Given the description of an element on the screen output the (x, y) to click on. 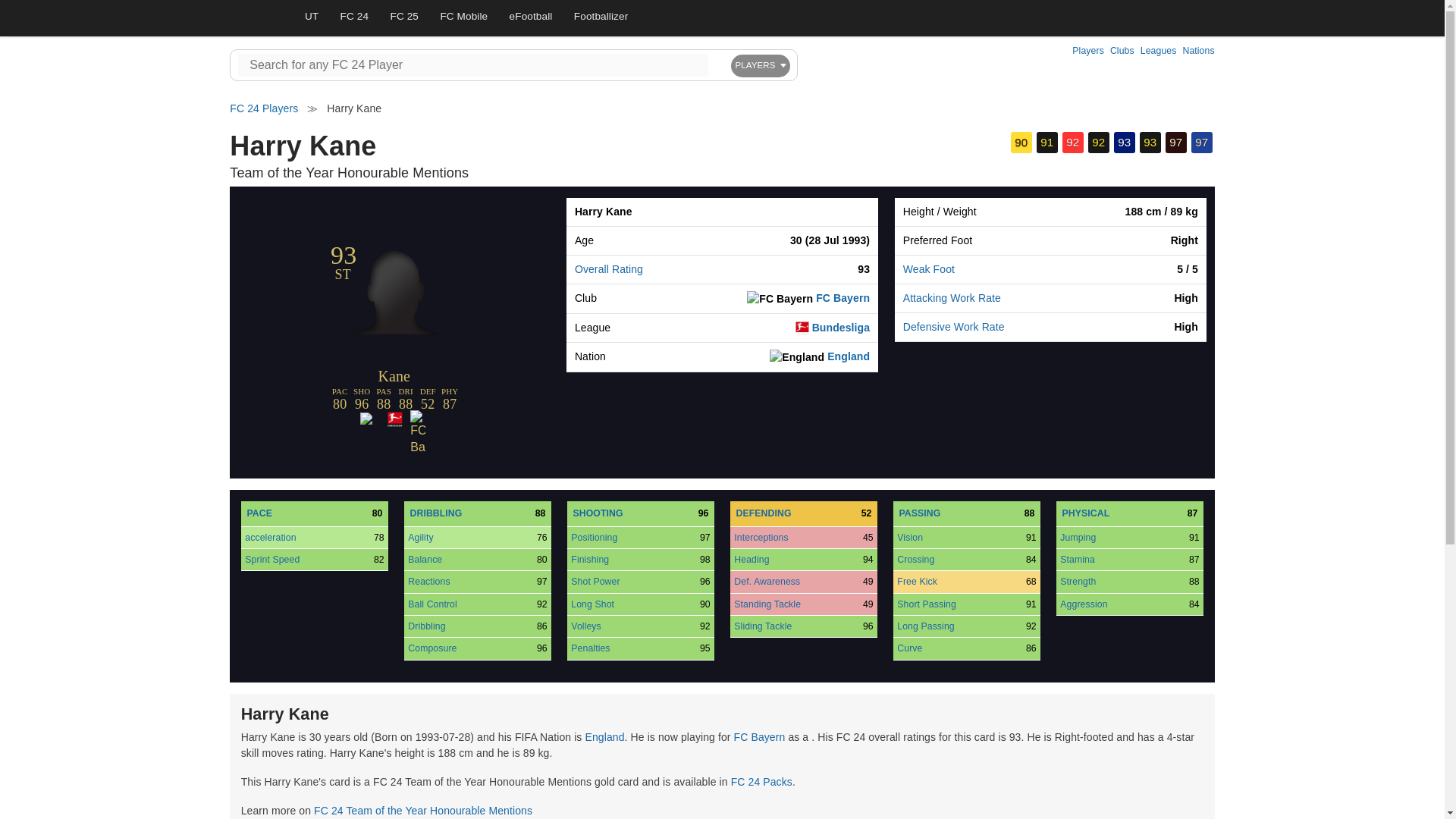
FIFPlay (256, 18)
FC 25 (403, 17)
FC 24 (354, 17)
UT (311, 17)
